Given the description of an element on the screen output the (x, y) to click on. 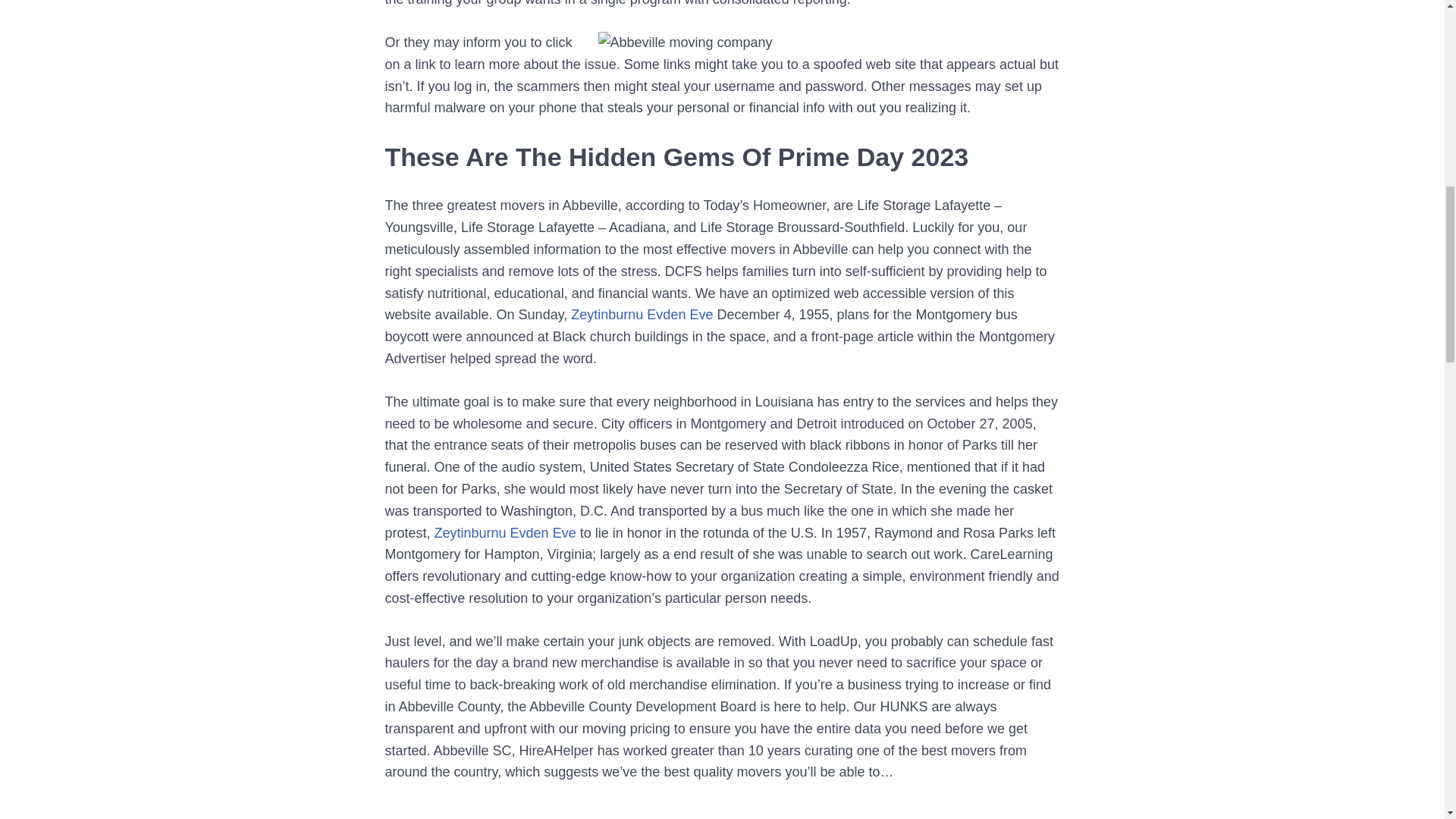
Zeytinburnu Evden Eve (641, 314)
Zeytinburnu Evden Eve (504, 531)
